Given the description of an element on the screen output the (x, y) to click on. 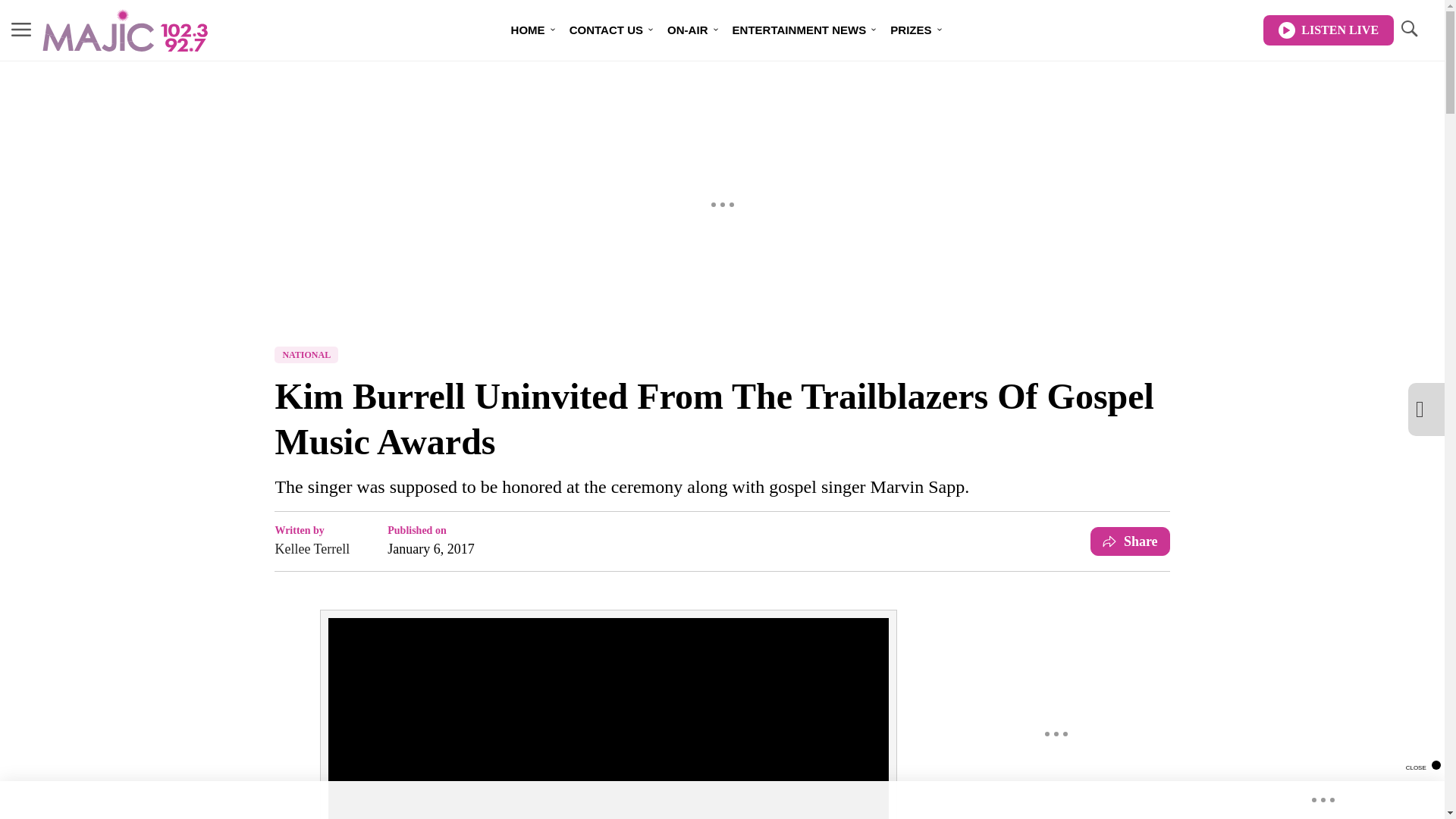
Kellee Terrell (312, 548)
ON-AIR (687, 30)
Share (1130, 541)
LISTEN LIVE (1328, 30)
HOME (528, 30)
TOGGLE SEARCH (1408, 28)
PRIZES (910, 30)
MENU (20, 29)
NATIONAL (306, 354)
ENTERTAINMENT NEWS (799, 30)
CONTACT US (606, 30)
MENU (20, 30)
TOGGLE SEARCH (1408, 30)
